Given the description of an element on the screen output the (x, y) to click on. 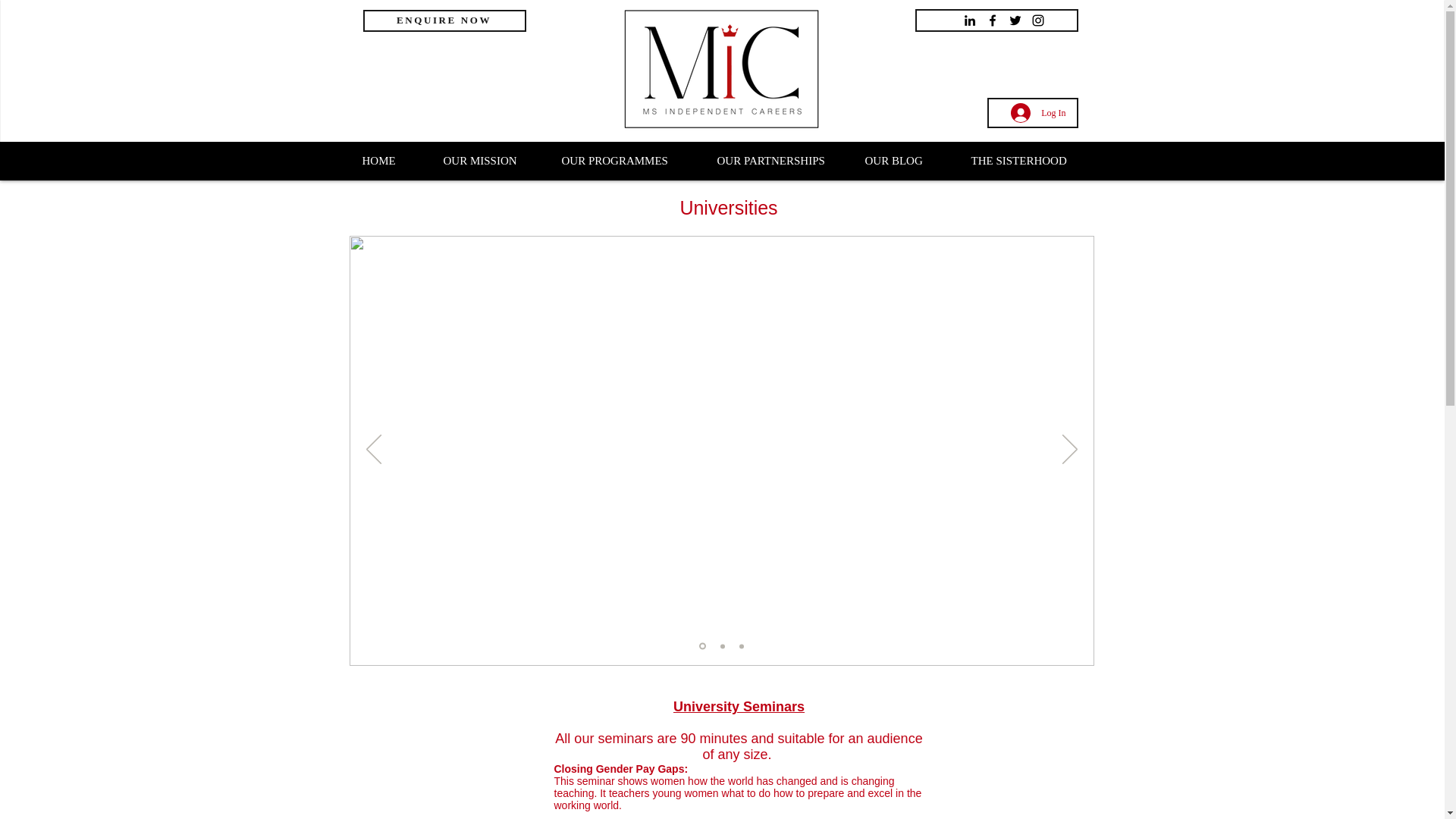
HOME (390, 160)
OUR MISSION (491, 160)
OUR BLOG (906, 160)
OUR PROGRAMMES (628, 160)
OUR PARTNERSHIPS (778, 160)
ENQUIRE NOW (444, 19)
THE SISTERHOOD (1026, 160)
Log In (1037, 112)
